Given the description of an element on the screen output the (x, y) to click on. 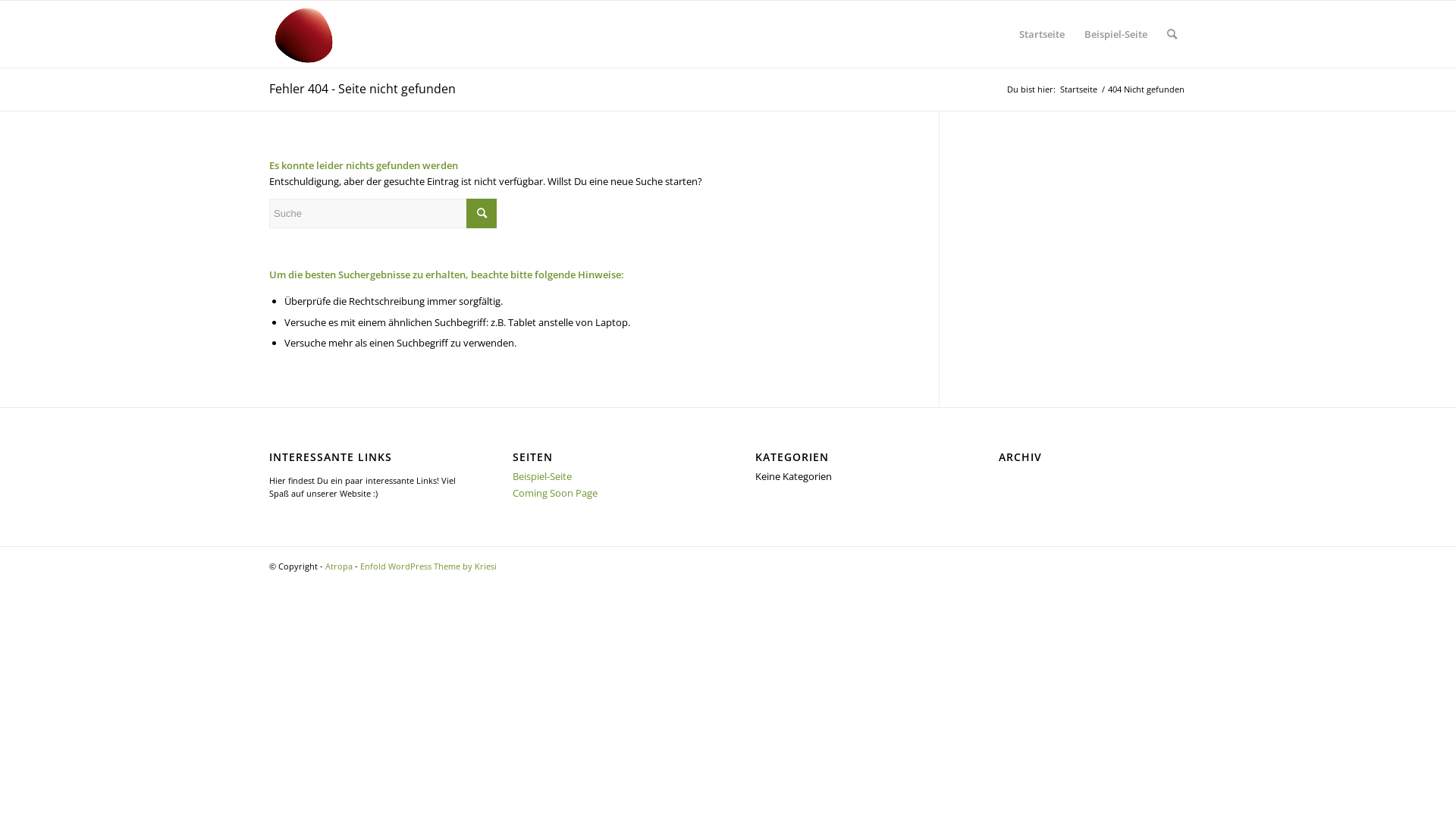
Beispiel-Seite Element type: text (541, 476)
Coming Soon Page Element type: text (554, 492)
Beispiel-Seite Element type: text (1115, 33)
Startseite Element type: text (1078, 88)
atropa_favicon_new Element type: hover (305, 33)
Enfold WordPress Theme by Kriesi Element type: text (428, 565)
Atropa Element type: text (338, 565)
Startseite Element type: text (1041, 33)
